Given the description of an element on the screen output the (x, y) to click on. 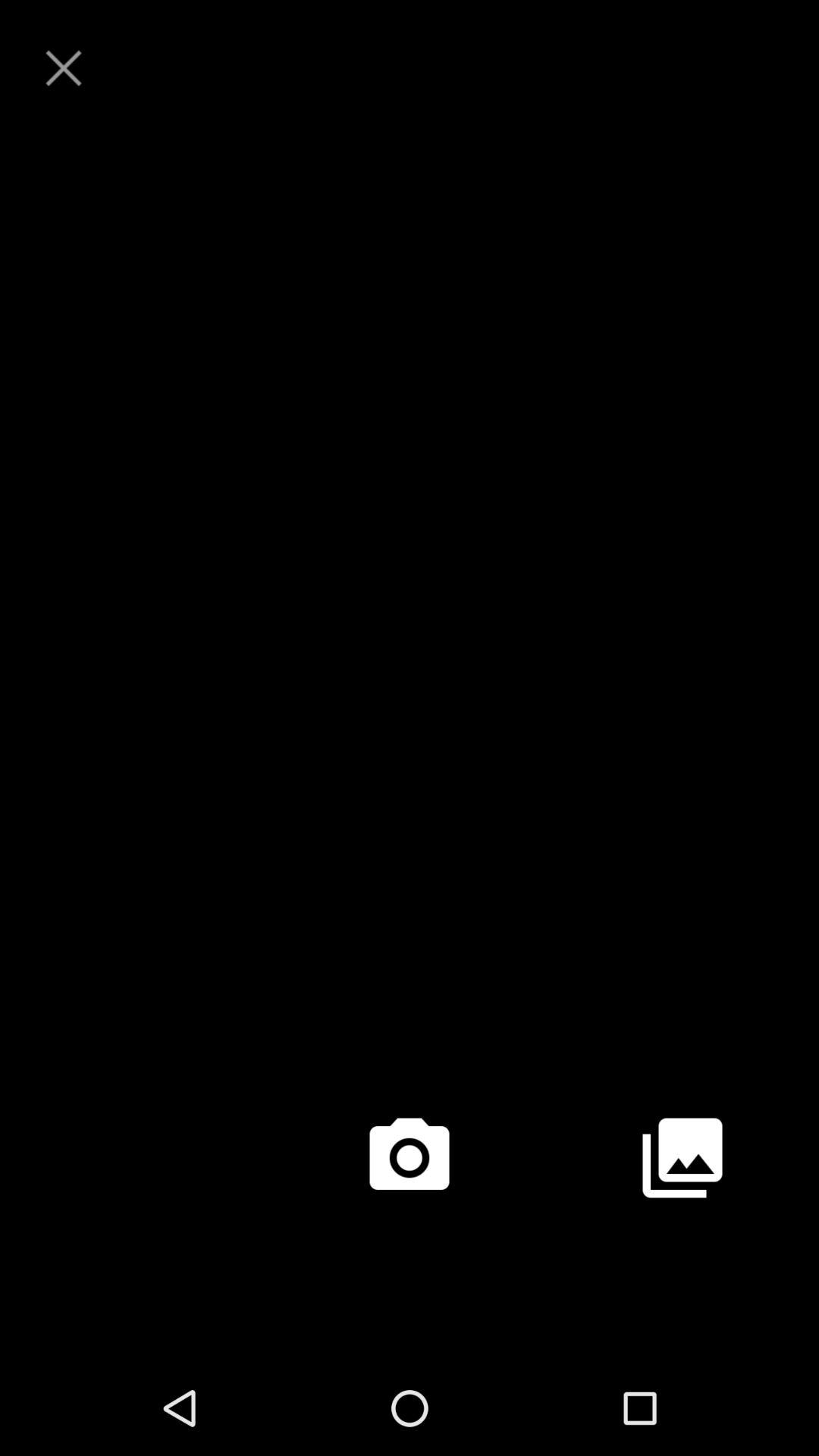
take a picture (409, 1157)
